Given the description of an element on the screen output the (x, y) to click on. 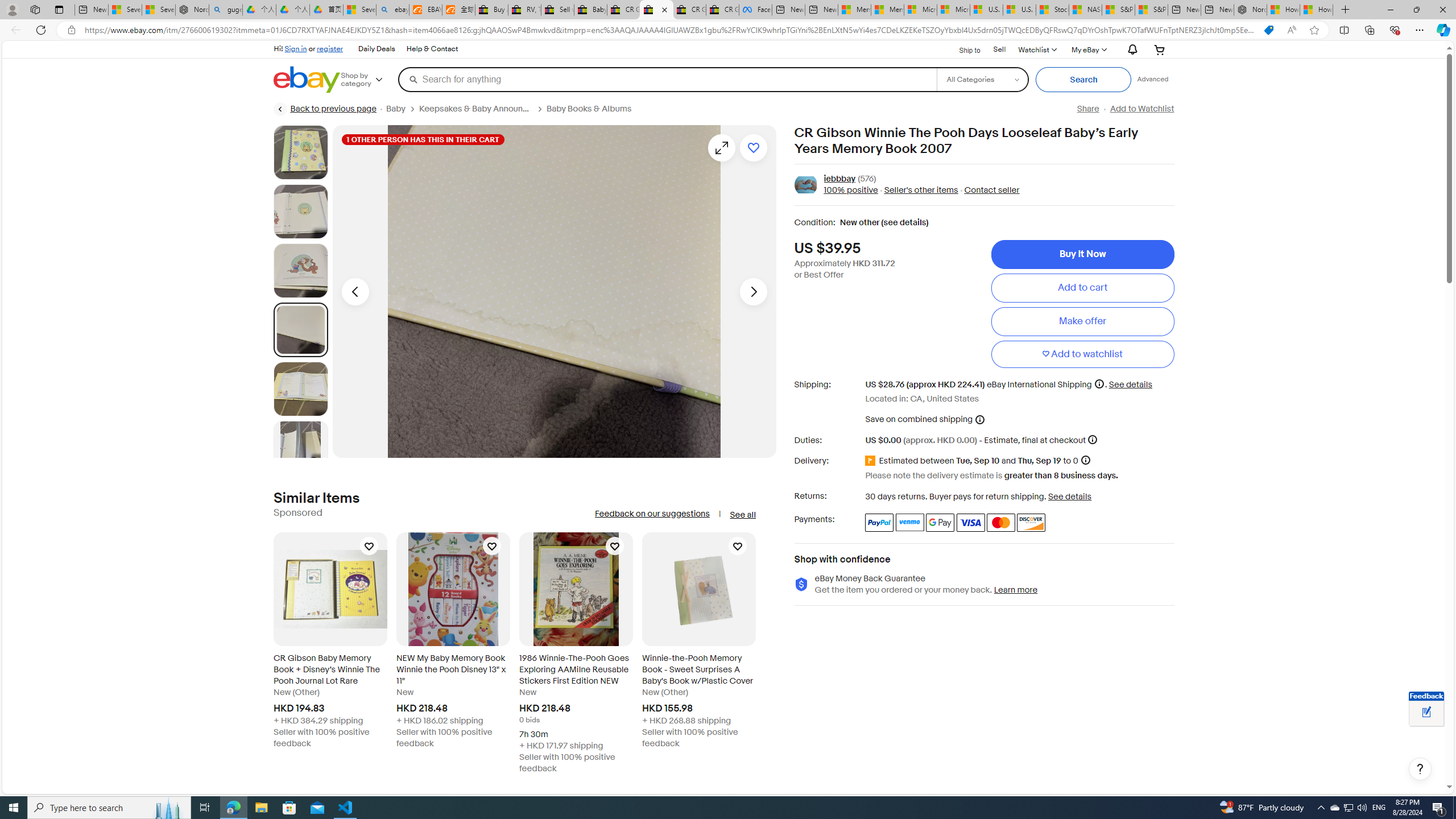
Daily Deals (376, 49)
Picture 4 of 22 (300, 329)
100% positive (850, 190)
  Contact seller (988, 190)
Select a category for search (981, 78)
Help & Contact (431, 49)
Ship to (962, 50)
Sign in (295, 48)
My eBayExpand My eBay (1088, 49)
Shop by category (368, 79)
Picture 2 of 22 (300, 211)
Help & Contact (432, 49)
More information on Combined Shipping. Opens a layer. (979, 419)
Make offer (1082, 320)
